Given the description of an element on the screen output the (x, y) to click on. 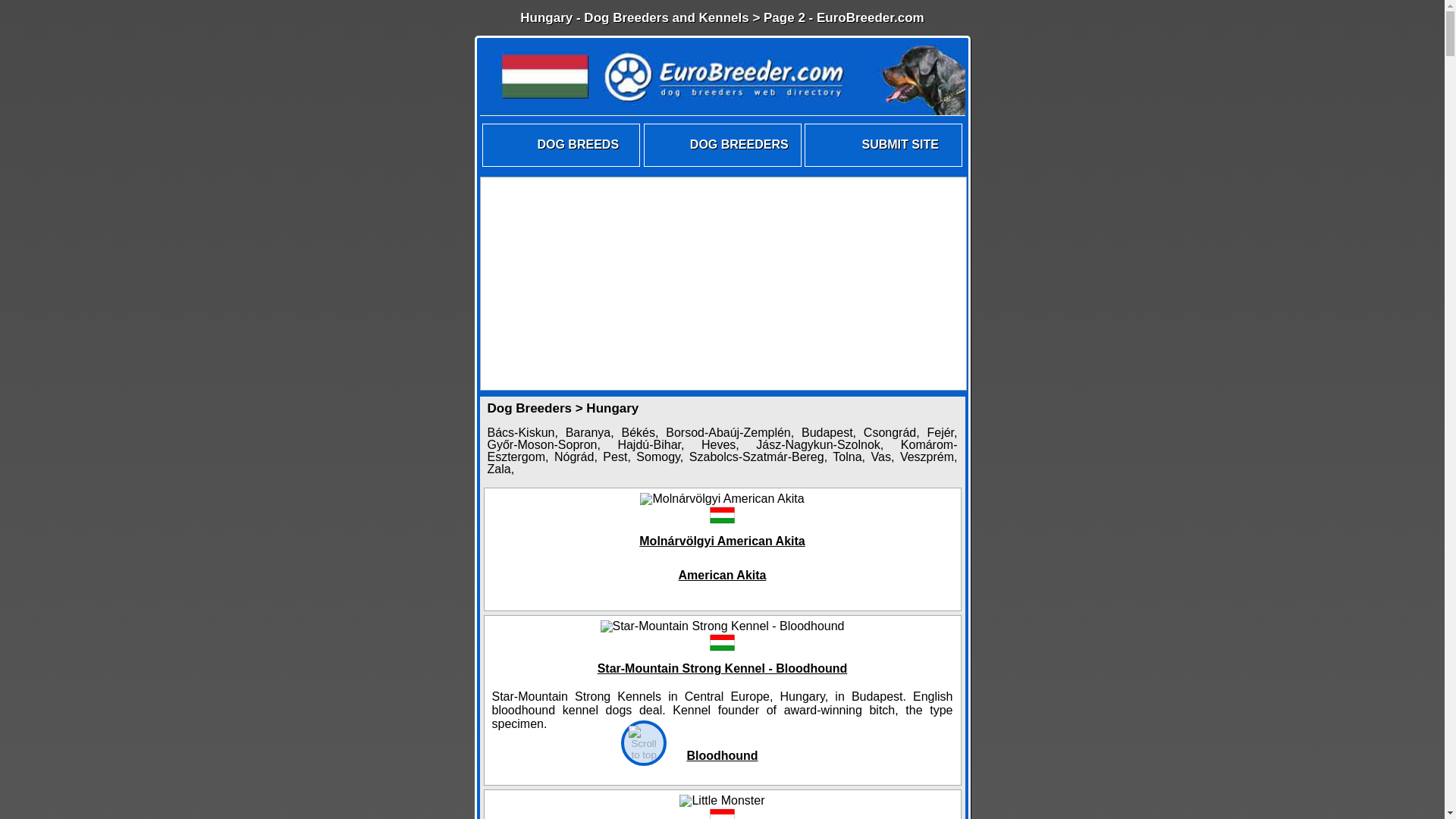
Star-Mountain Strong Kennel - Bloodhound (721, 668)
Bloodhound (721, 755)
 DOG BREEDS (560, 164)
 SUBMIT SITE (883, 164)
 DOG BREEDERS (721, 164)
American Akita (721, 574)
